Given the description of an element on the screen output the (x, y) to click on. 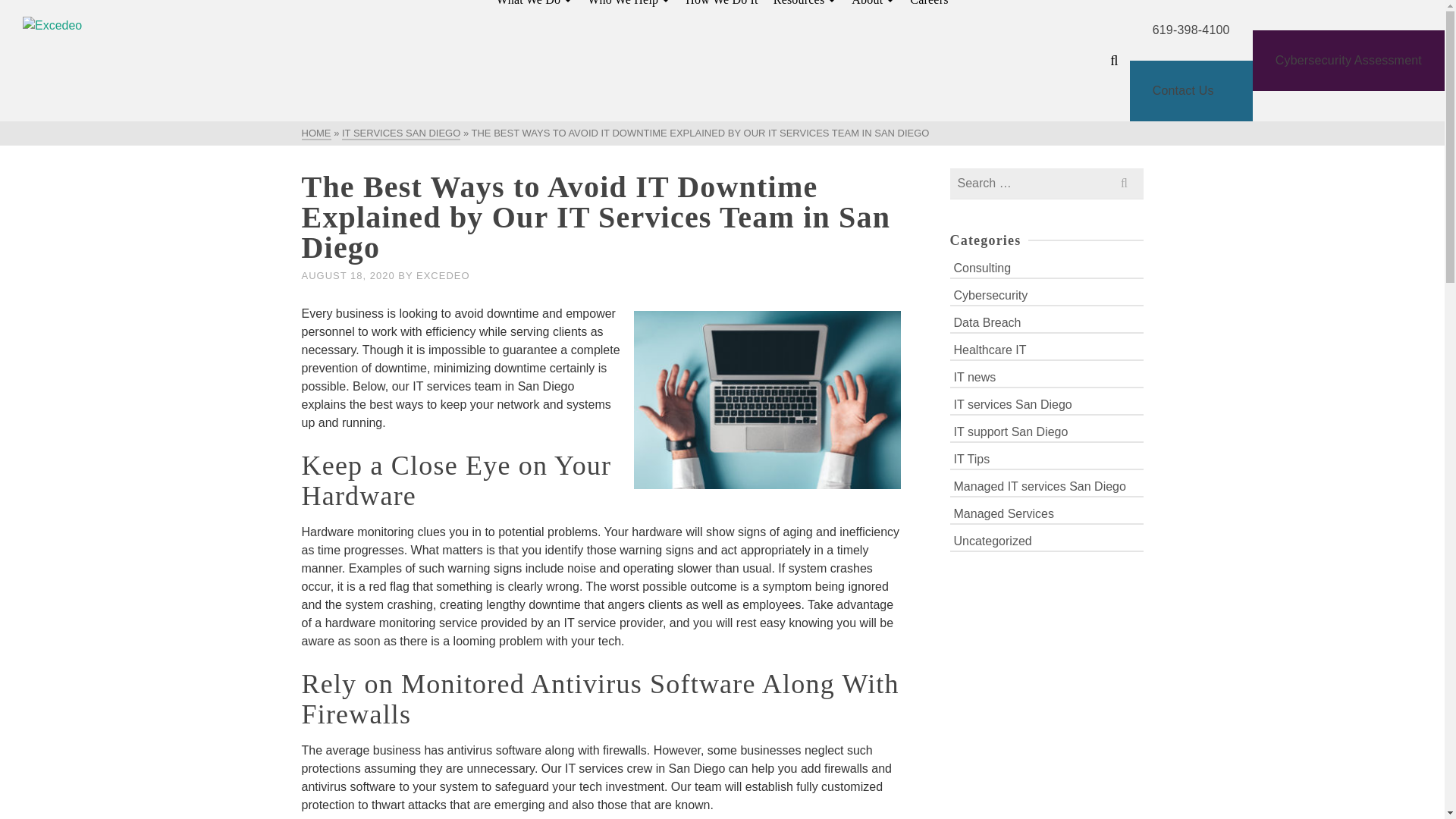
Contact Us (1190, 90)
How We Do It (721, 8)
HOME (316, 133)
Who We Help (628, 8)
What We Do (533, 8)
Resources (804, 8)
Careers (928, 8)
About (873, 8)
619-398-4100 (1191, 30)
IT SERVICES SAN DIEGO (401, 133)
